Given the description of an element on the screen output the (x, y) to click on. 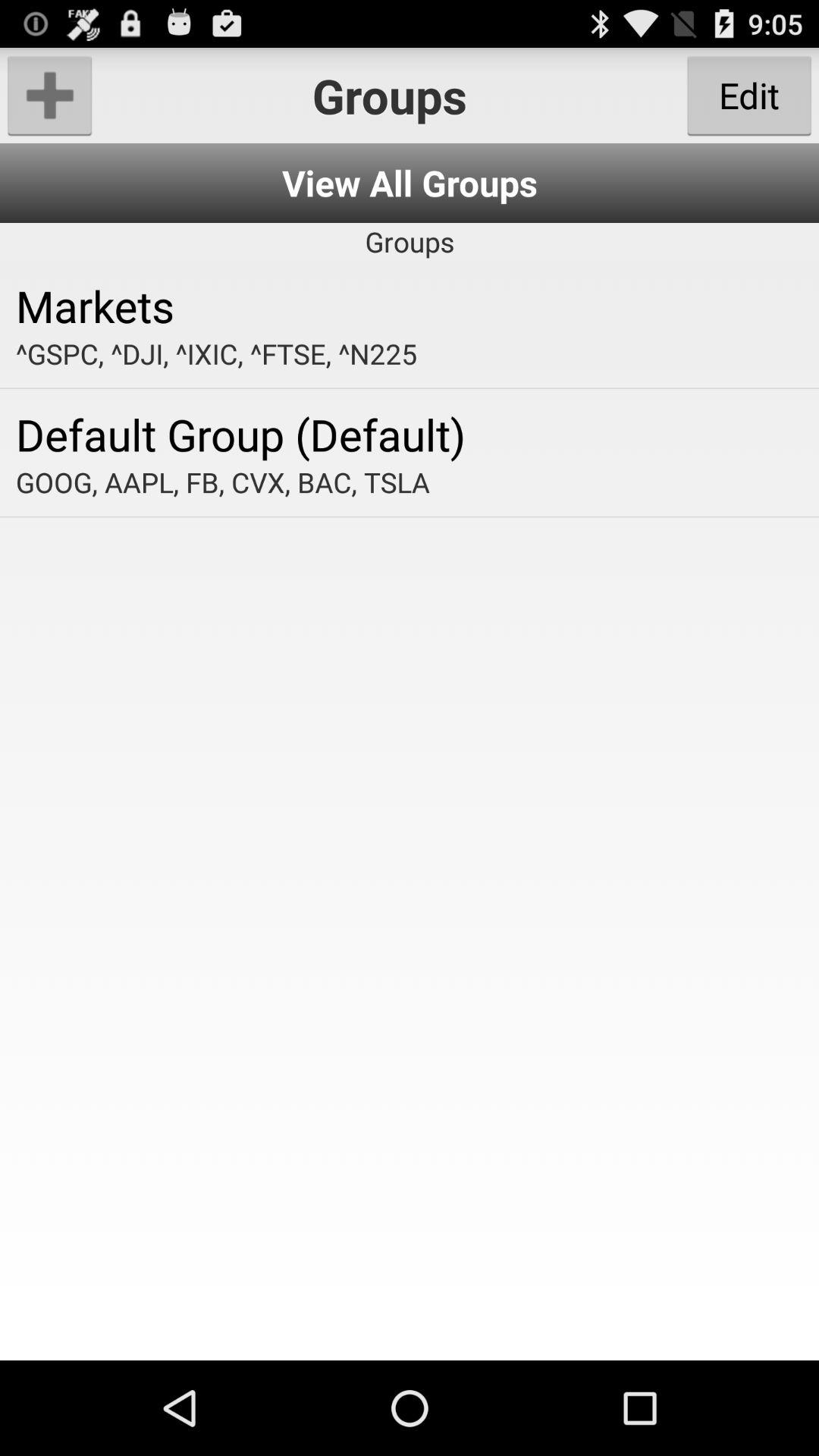
click the item to the right of groups (749, 95)
